Given the description of an element on the screen output the (x, y) to click on. 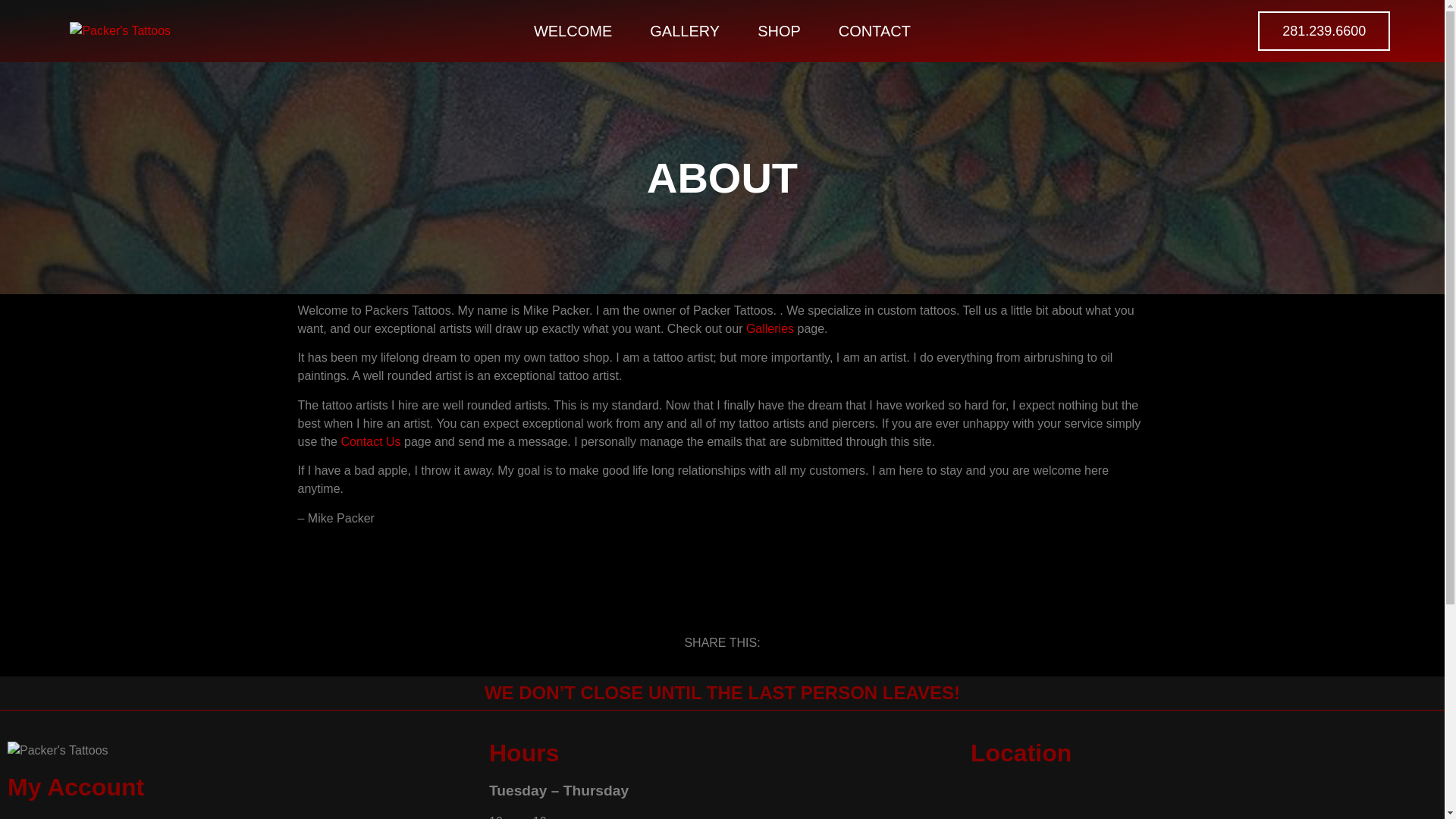
Galleries (769, 328)
WELCOME (572, 30)
Packer's Tattoos (1204, 799)
281.239.6600 (1323, 30)
SHOP (778, 30)
CONTACT (874, 30)
GALLERY (684, 30)
Contact Us (370, 440)
